Given the description of an element on the screen output the (x, y) to click on. 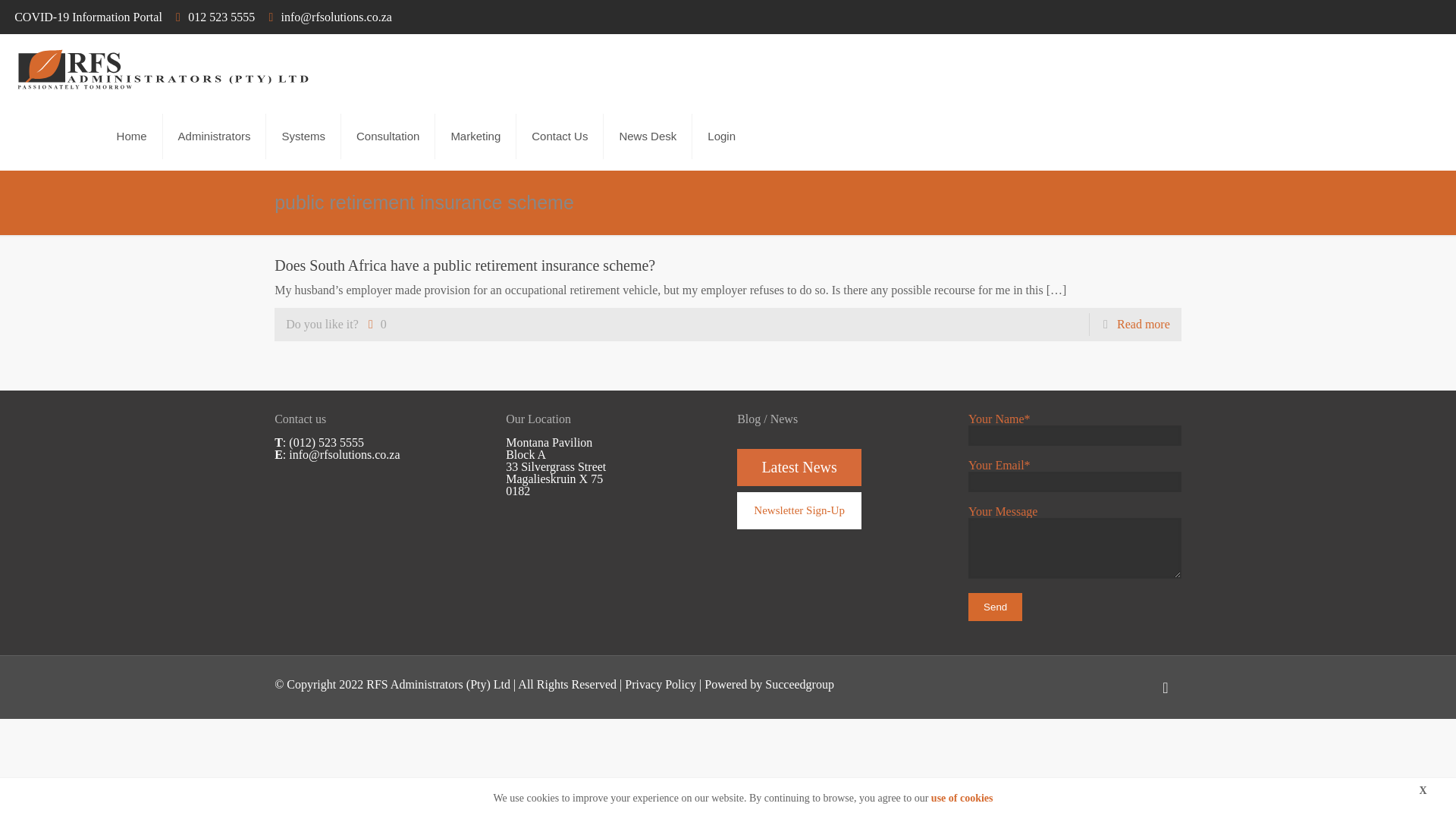
COVID-19 Information Portal (87, 16)
012 523 5555 (220, 16)
News Desk (648, 136)
Latest News (798, 468)
Administrators (214, 136)
Home (132, 136)
Contact Us (560, 136)
Read more (1143, 323)
Newsletter Sign-Up (798, 509)
Send (995, 606)
Consultation (387, 136)
Systems (303, 136)
Succeedgroup (799, 684)
0 (374, 323)
Privacy Policy (659, 684)
